Given the description of an element on the screen output the (x, y) to click on. 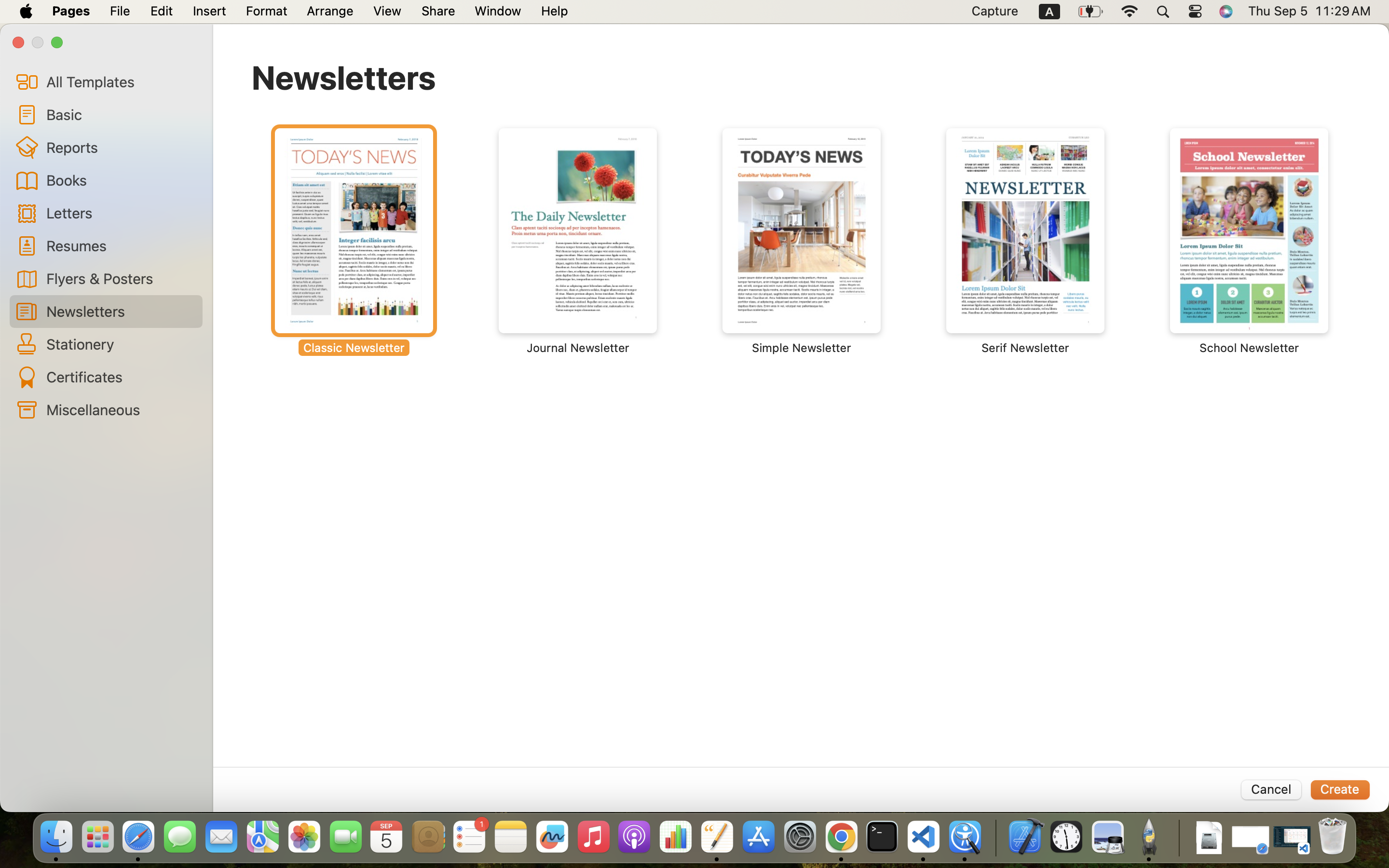
Certificates Element type: AXStaticText (120, 376)
All Templates Element type: AXStaticText (120, 81)
Miscellaneous Element type: AXStaticText (120, 409)
Basic Element type: AXStaticText (120, 114)
